Given the description of an element on the screen output the (x, y) to click on. 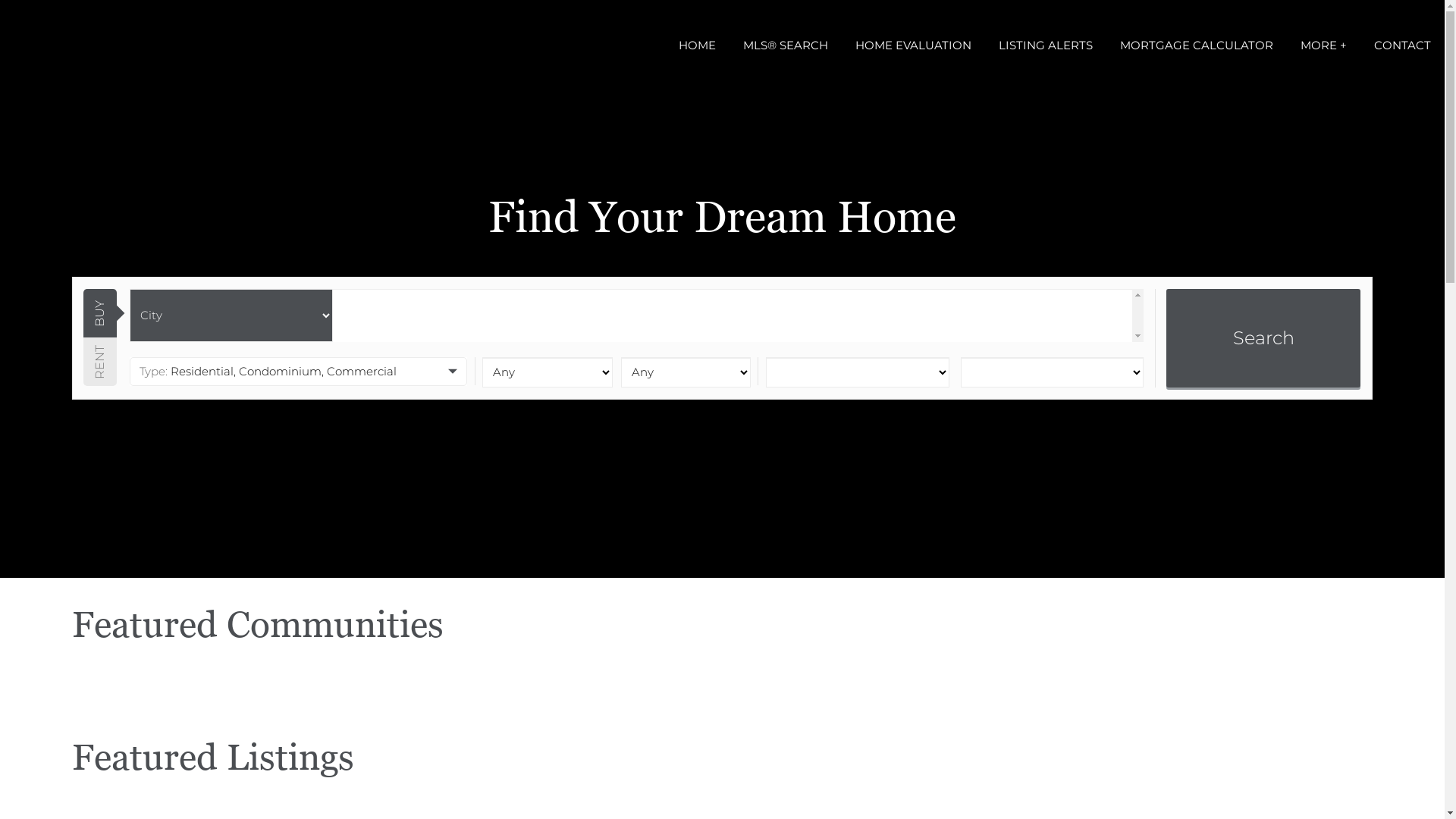
BUY Element type: text (107, 305)
RENT Element type: text (107, 353)
CONTACT Element type: text (1402, 45)
MORTGAGE CALCULATOR Element type: text (1196, 45)
Alan Newton Real Estate Ltd., Brokerage Element type: hover (0, 0)
HOME Element type: text (697, 45)
HOME EVALUATION Element type: text (913, 45)
Search Element type: text (1262, 337)
Residential, Condominium, Commercial Element type: text (298, 371)
MORE + Element type: text (1323, 45)
LISTING ALERTS Element type: text (1045, 45)
